Given the description of an element on the screen output the (x, y) to click on. 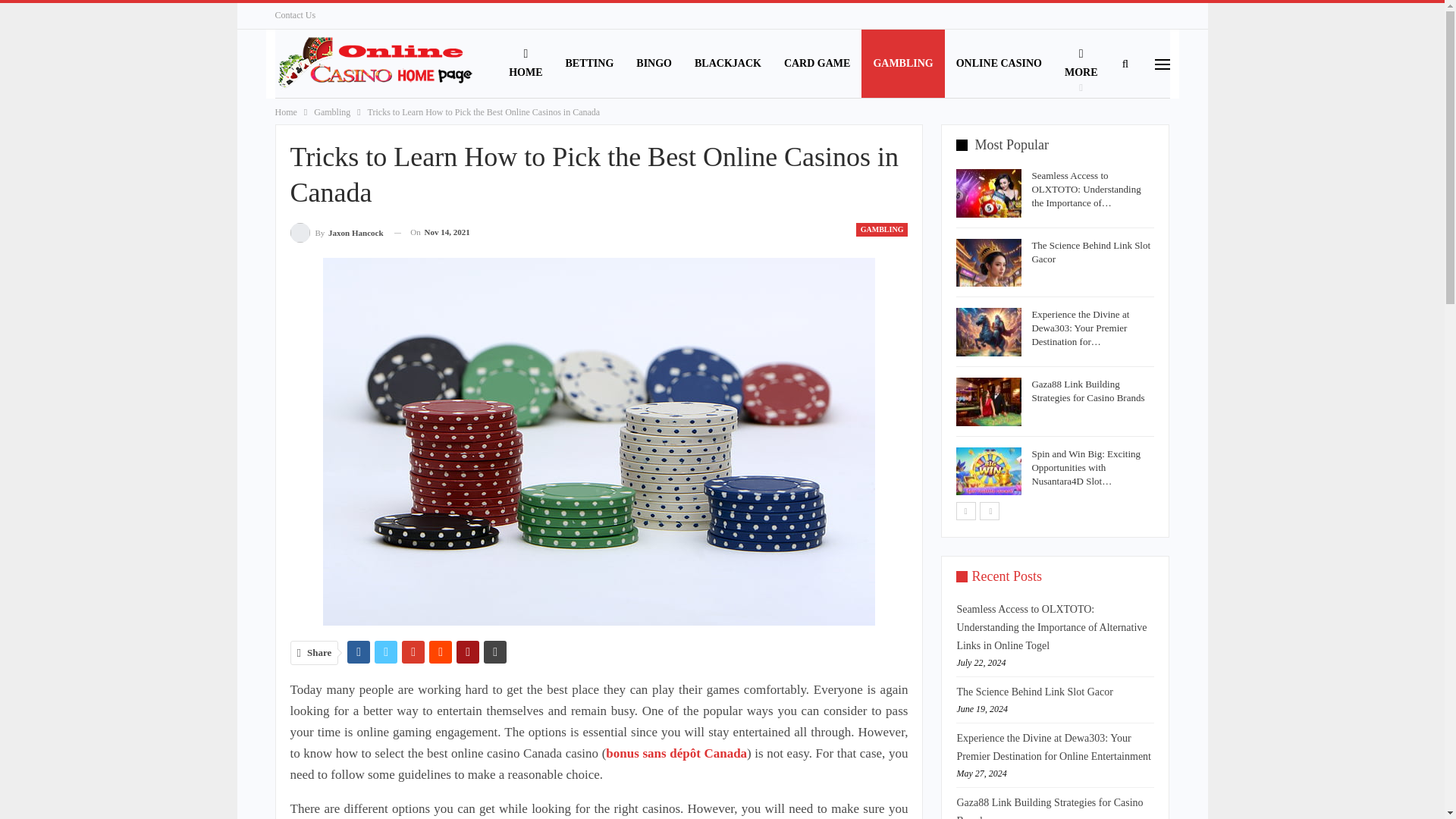
MORE (1080, 63)
By Jaxon Hancock (335, 231)
Gambling (332, 112)
GAMBLING (882, 229)
BLACKJACK (727, 63)
CARD GAME (817, 63)
GAMBLING (902, 63)
BINGO (653, 63)
BETTING (588, 63)
ONLINE CASINO (998, 63)
Home (286, 112)
HOME (525, 63)
Contact Us (295, 14)
Browse Author Articles (335, 231)
